Given the description of an element on the screen output the (x, y) to click on. 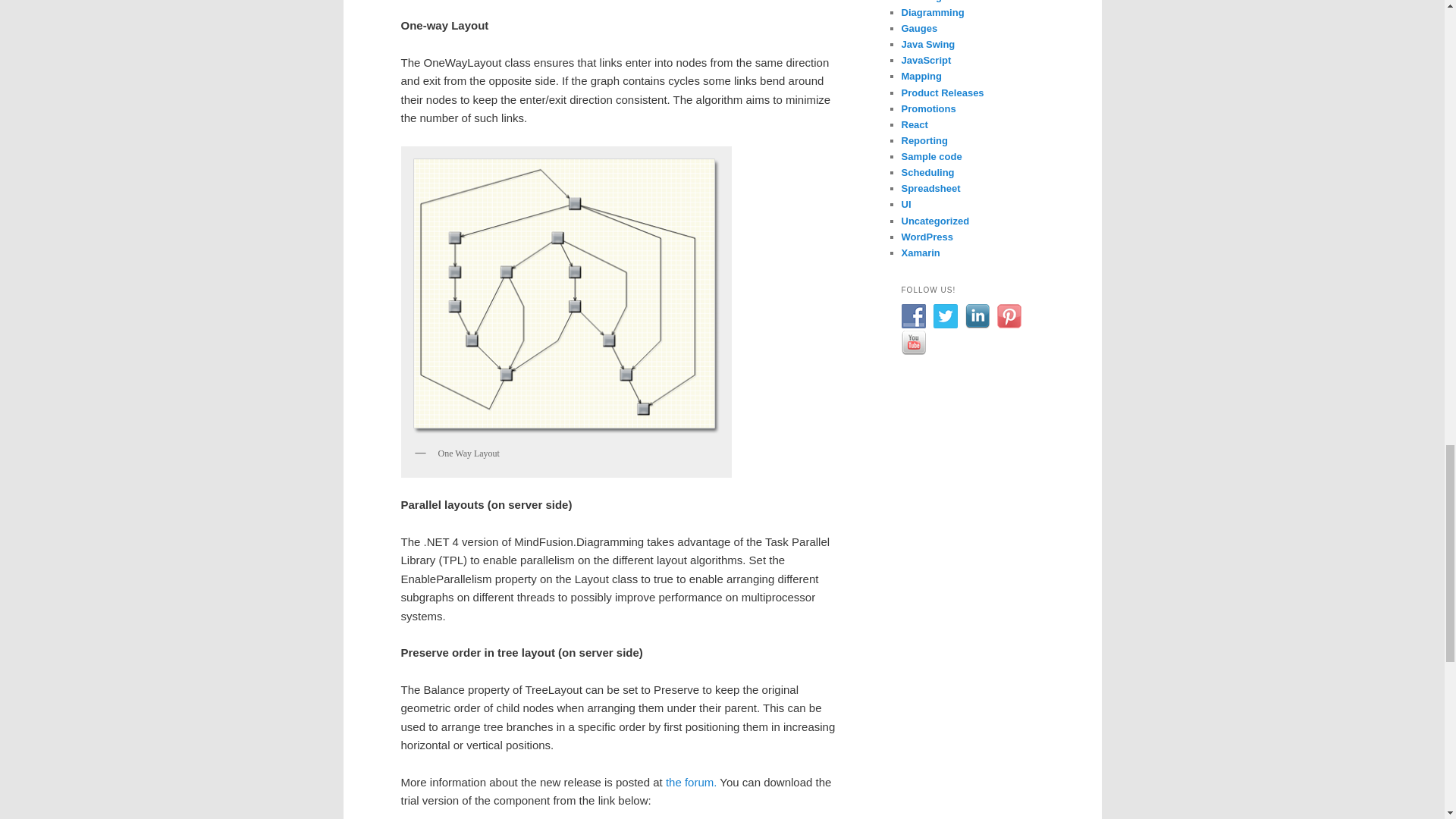
Follow Us on LinkedIn (975, 315)
Follow Us on Pinterest (1007, 315)
Follow Us on YouTube (912, 342)
Follow Us on Facebook (912, 315)
the forum. (691, 781)
Follow Us on Twitter (944, 315)
